Given the description of an element on the screen output the (x, y) to click on. 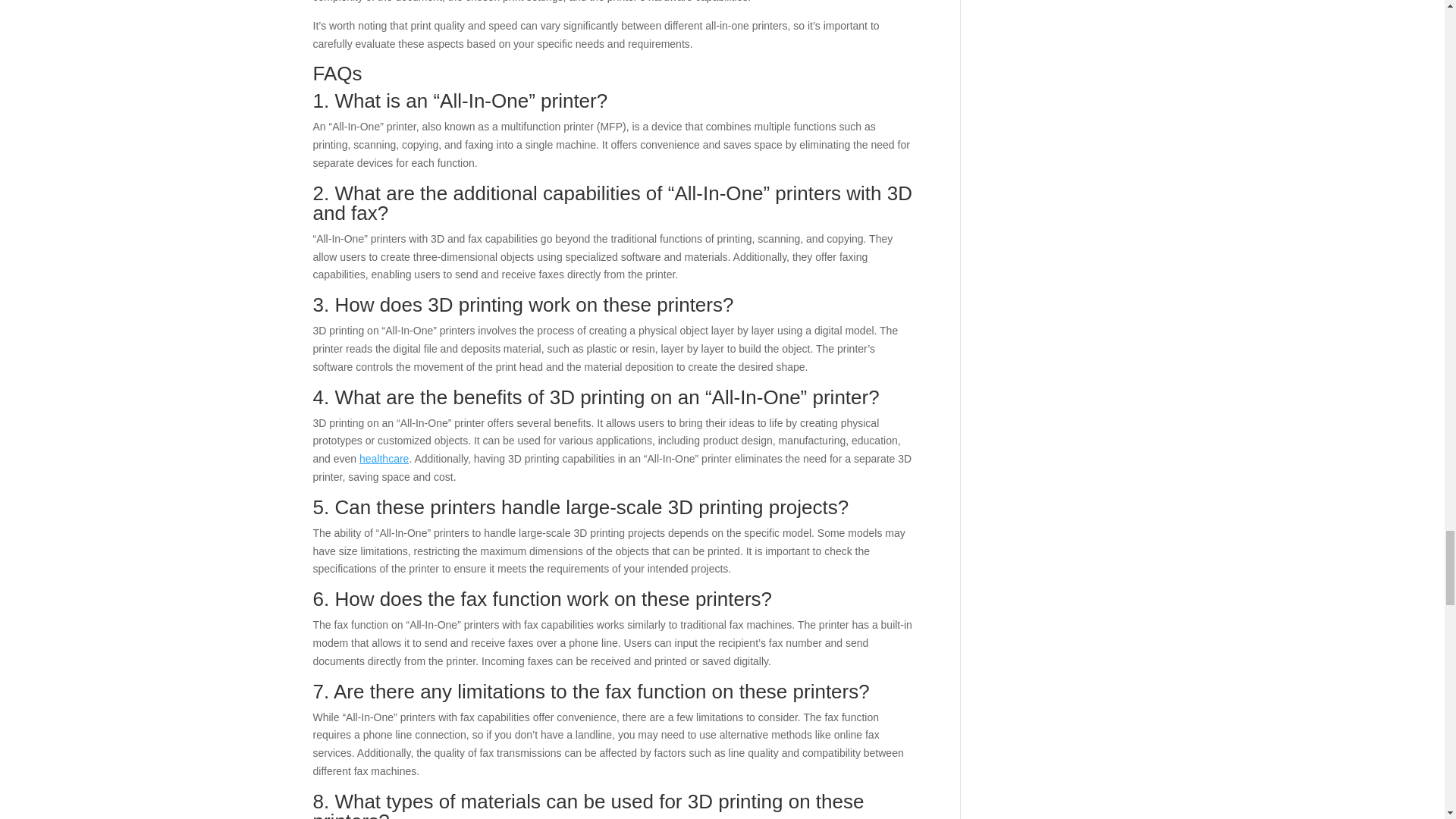
healthcare (384, 458)
